Given the description of an element on the screen output the (x, y) to click on. 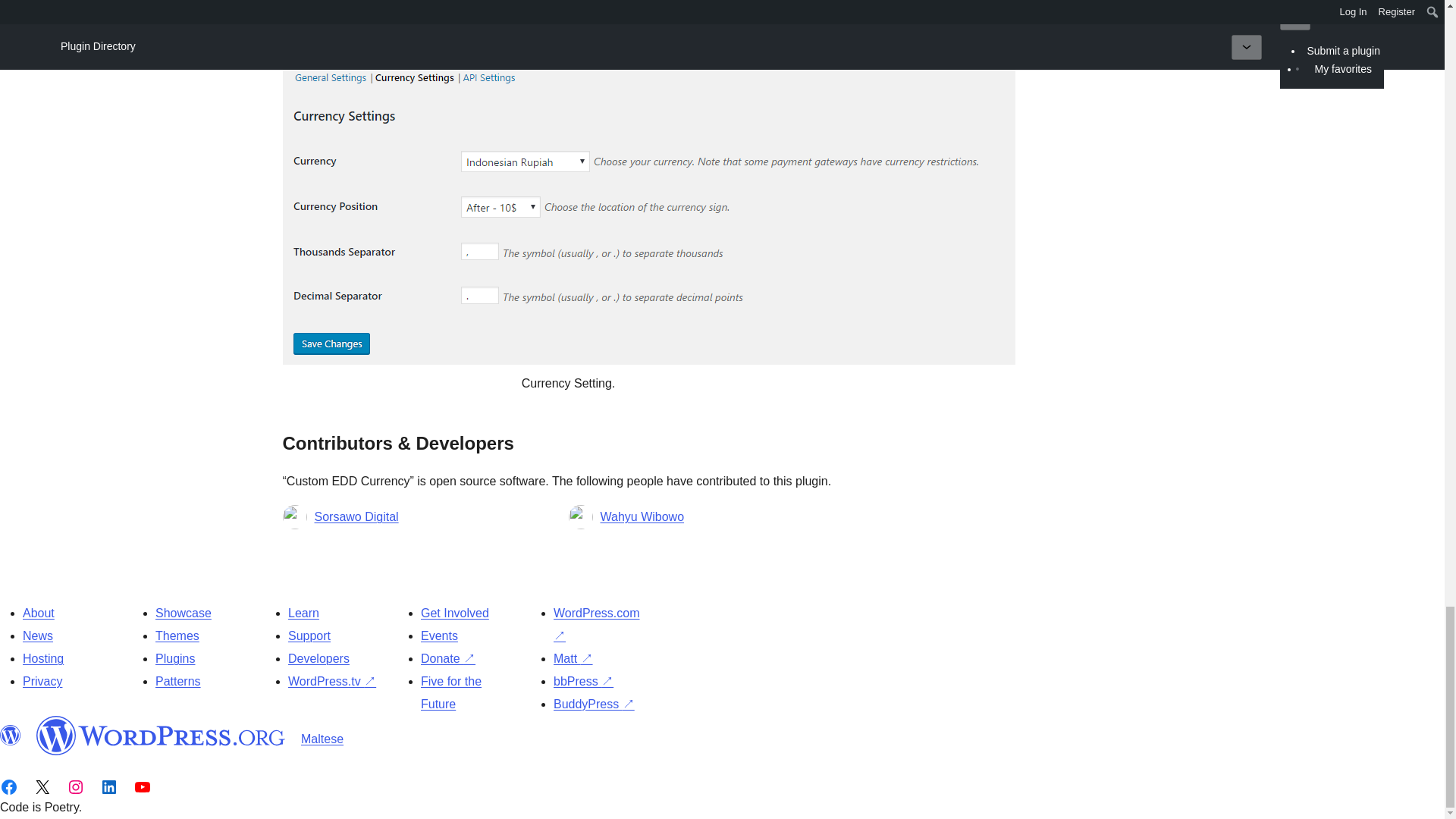
Sorsawo Digital (355, 517)
Wahyu Wibowo (641, 517)
WordPress.org (160, 735)
WordPress.org (10, 735)
